Given the description of an element on the screen output the (x, y) to click on. 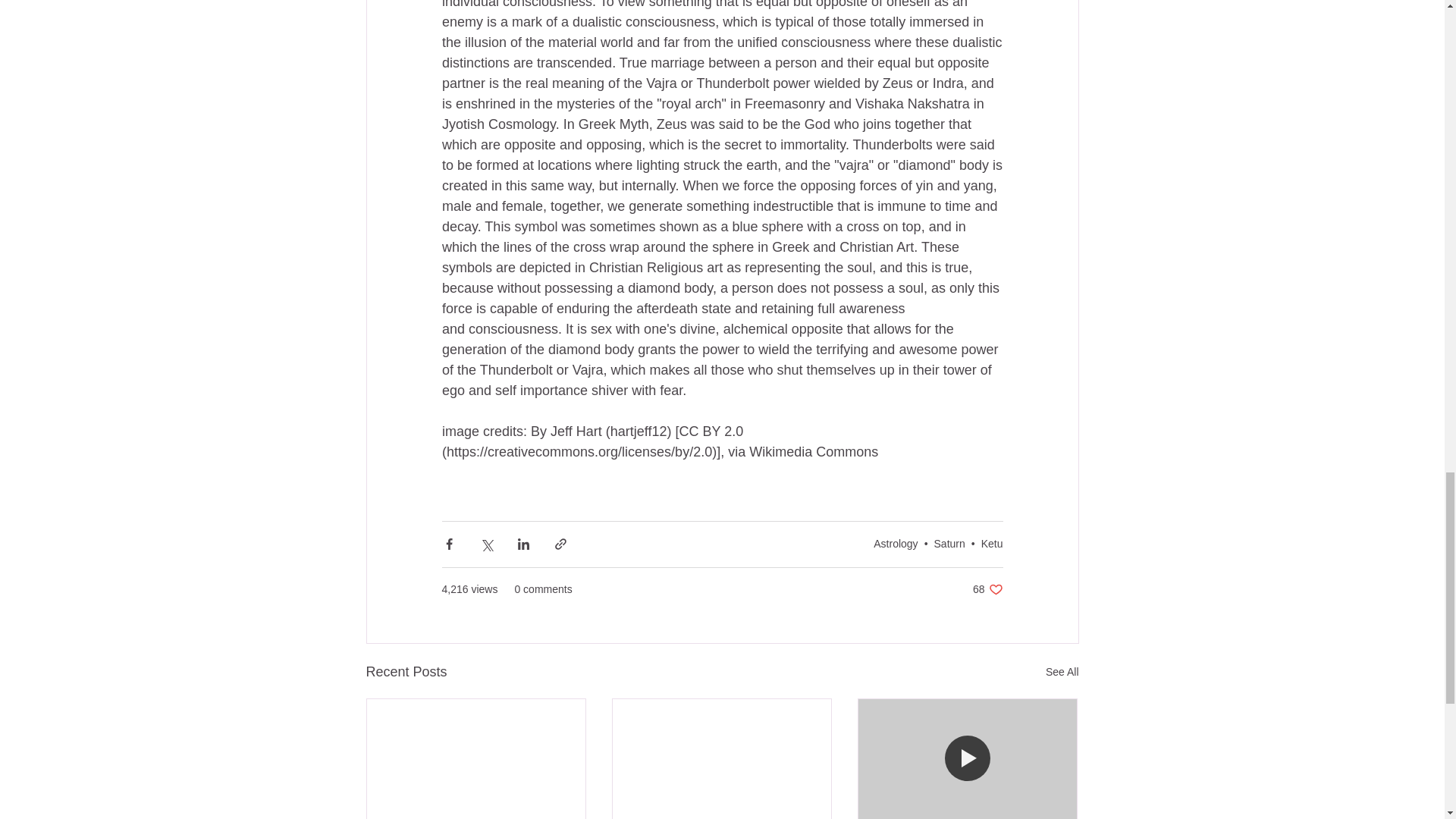
Ketu (992, 543)
See All (1061, 671)
Saturn (949, 543)
Astrology (895, 543)
